Given the description of an element on the screen output the (x, y) to click on. 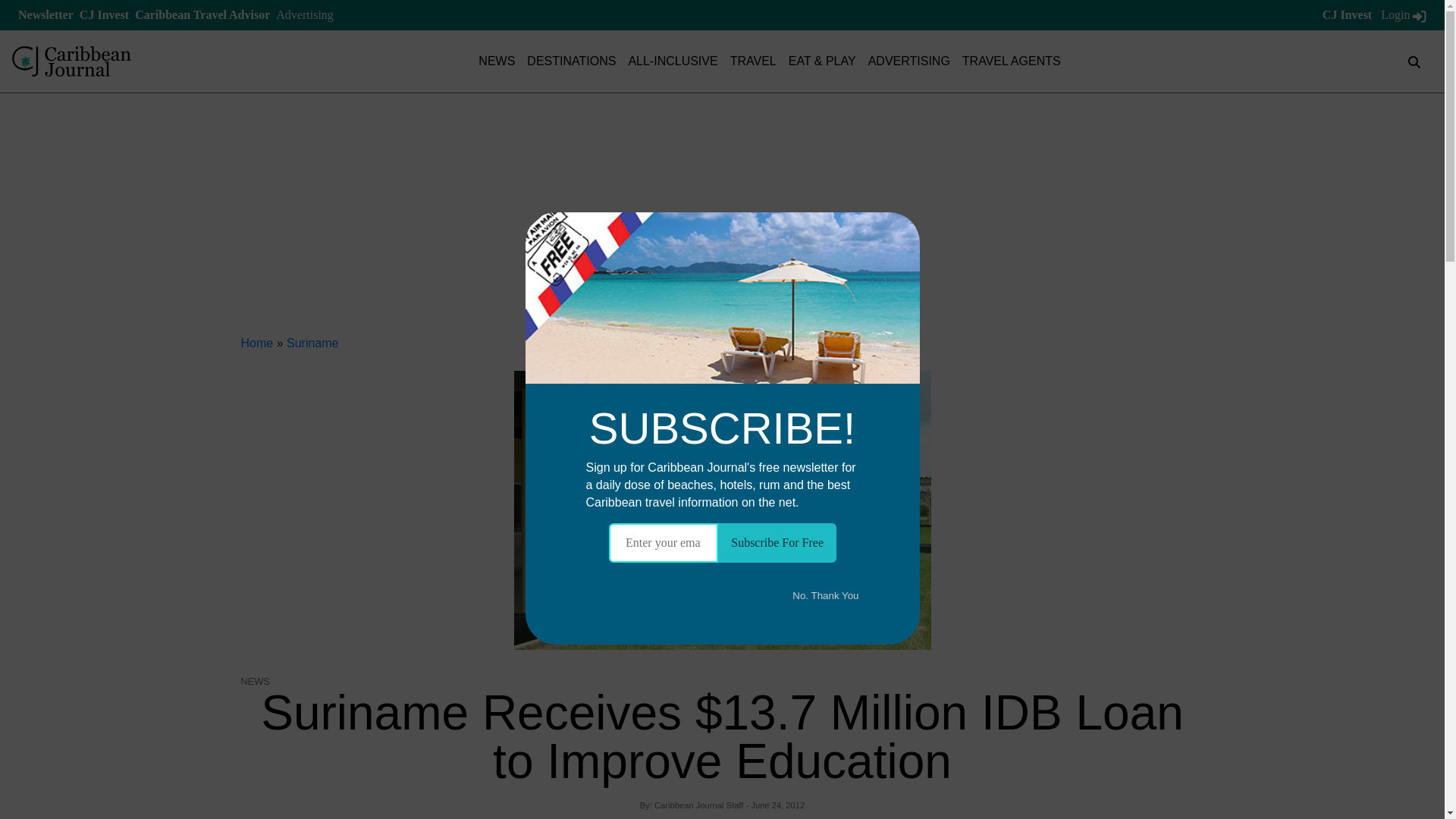
ADVERTISING (908, 60)
TRAVEL AGENTS (1011, 60)
TRAVEL (753, 60)
Caribbean Travel Advisor (202, 14)
DESTINATIONS (571, 60)
Advertising (304, 14)
NEWS (497, 60)
ALL-INCLUSIVE (672, 60)
CJ Invest (104, 14)
Login (1403, 14)
Newsletter (45, 14)
